Given the description of an element on the screen output the (x, y) to click on. 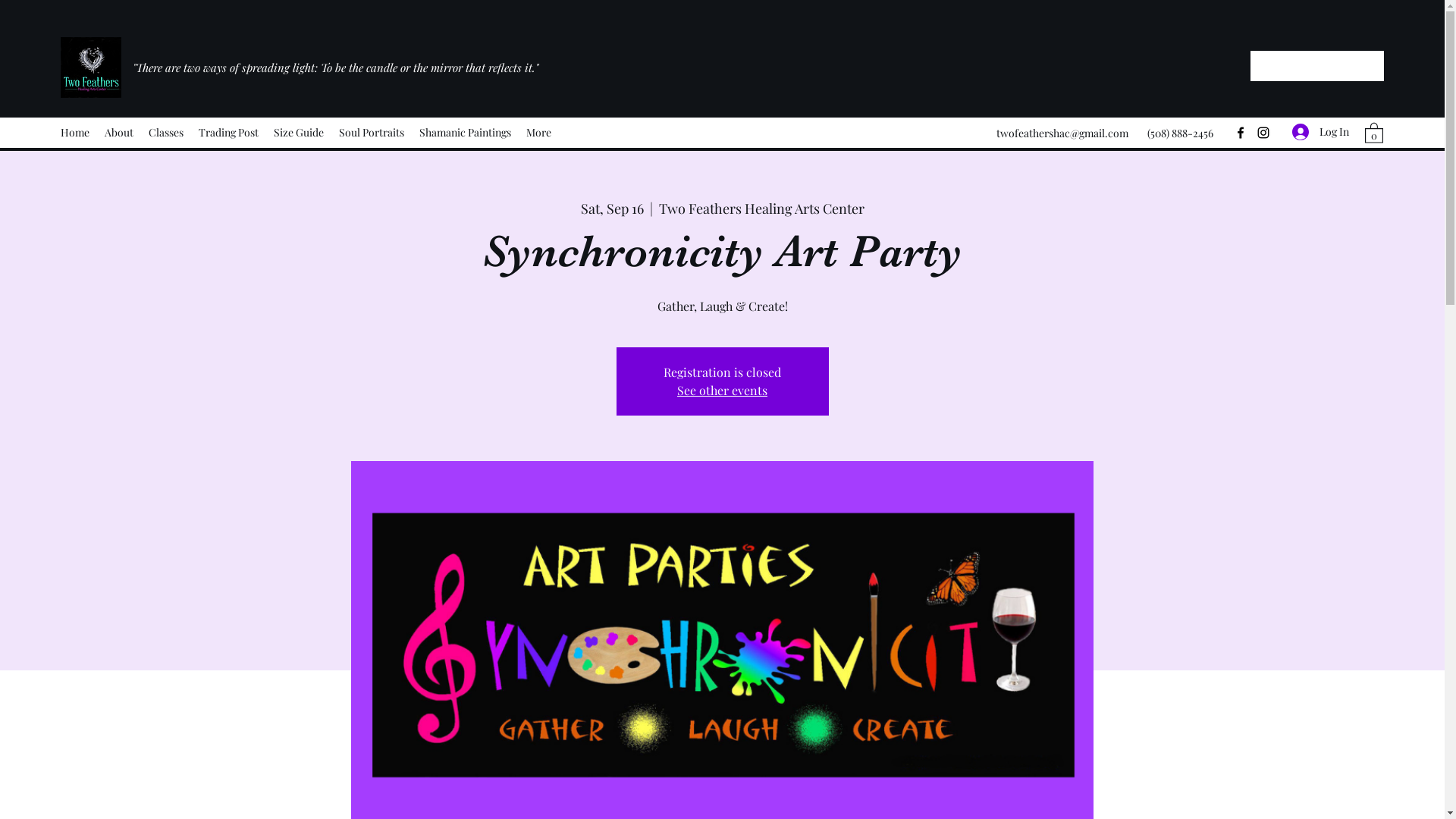
Shamanic Paintings Element type: text (464, 132)
See other events Element type: text (722, 390)
Log In Element type: text (1320, 131)
twofeathershac@gmail.com Element type: text (1062, 132)
About Element type: text (119, 132)
Home Element type: text (75, 132)
0 Element type: text (1374, 132)
Trading Post Element type: text (228, 132)
Soul Portraits Element type: text (371, 132)
Classes Element type: text (166, 132)
Size Guide Element type: text (298, 132)
